Given the description of an element on the screen output the (x, y) to click on. 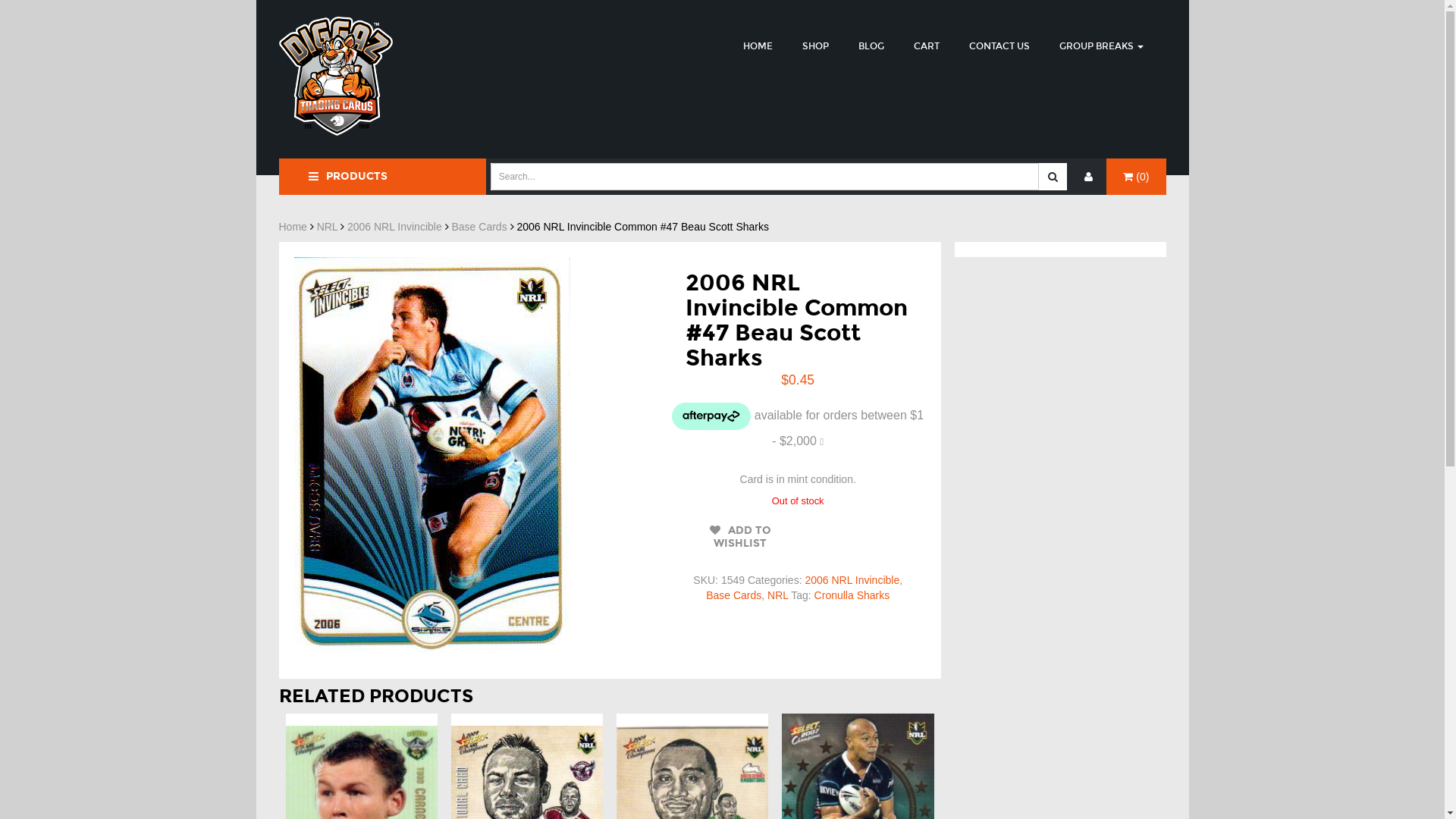
GROUP BREAKS Element type: text (1100, 46)
(0) Element type: text (1136, 176)
CONTACT US Element type: text (999, 46)
CART Element type: text (925, 46)
NRL Element type: text (777, 595)
2006 NRL Invincible Element type: text (394, 226)
HOME Element type: text (757, 46)
Base Cards Element type: text (478, 226)
BLOG Element type: text (870, 46)
SHOP Element type: text (815, 46)
Home Element type: text (293, 226)
img047 Element type: hover (432, 454)
NRL Element type: text (327, 226)
Cronulla Sharks Element type: text (852, 595)
2006 NRL Invincible Element type: text (851, 580)
Base Cards Element type: text (733, 595)
ADD TO WISHLIST Element type: text (740, 536)
